Given the description of an element on the screen output the (x, y) to click on. 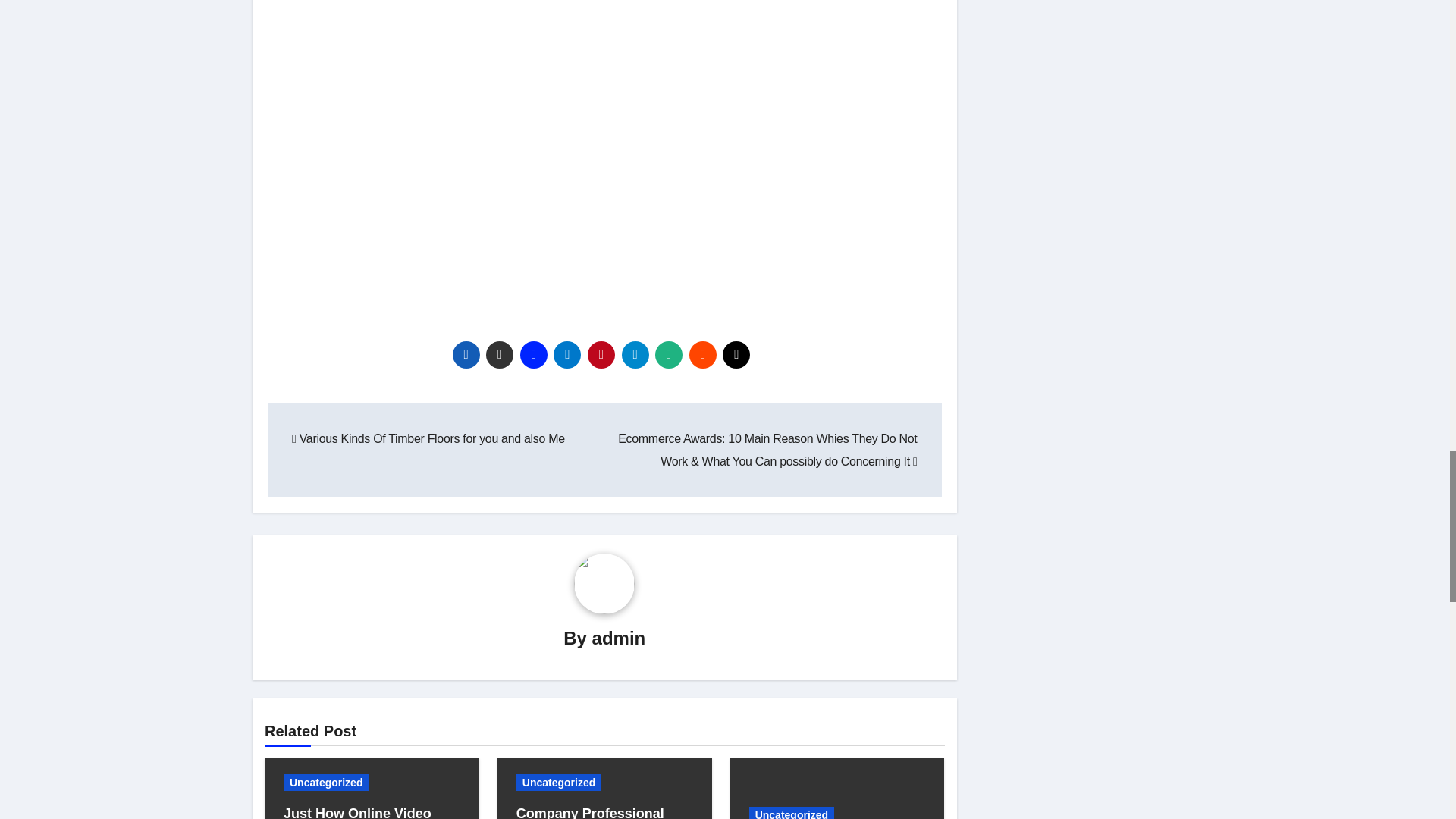
Uncategorized (325, 782)
admin (619, 638)
Various Kinds Of Timber Floors for you and also Me (428, 438)
